Given the description of an element on the screen output the (x, y) to click on. 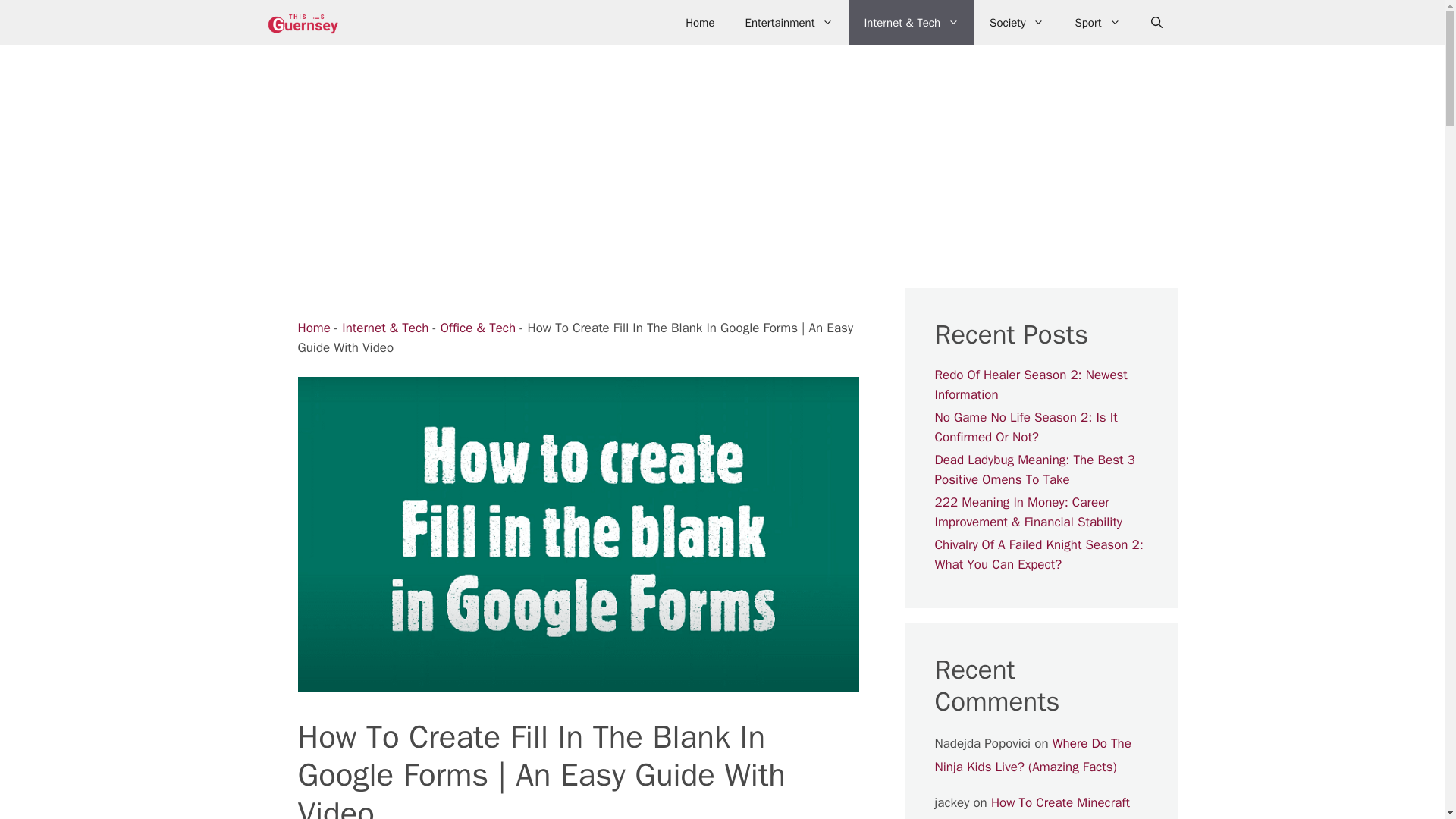
Entertainment (788, 22)
ThisIsGuernsey (305, 22)
ThisIsGuernsey (301, 22)
Sport (1097, 22)
Home (313, 327)
Home (699, 22)
Society (1016, 22)
